Given the description of an element on the screen output the (x, y) to click on. 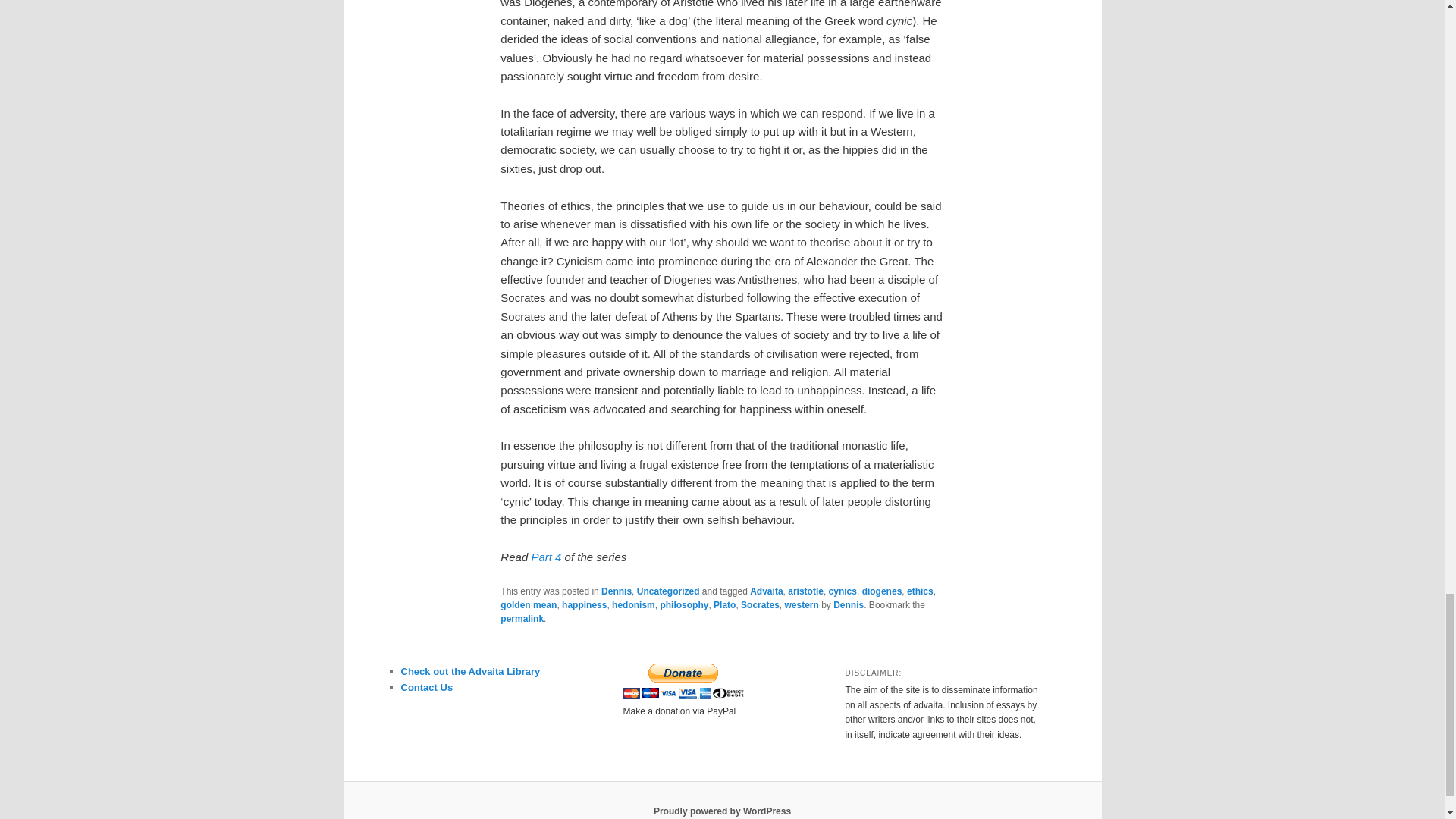
Semantic Personal Publishing Platform (721, 810)
Provide suggestions, report problems etc (426, 686)
